Given the description of an element on the screen output the (x, y) to click on. 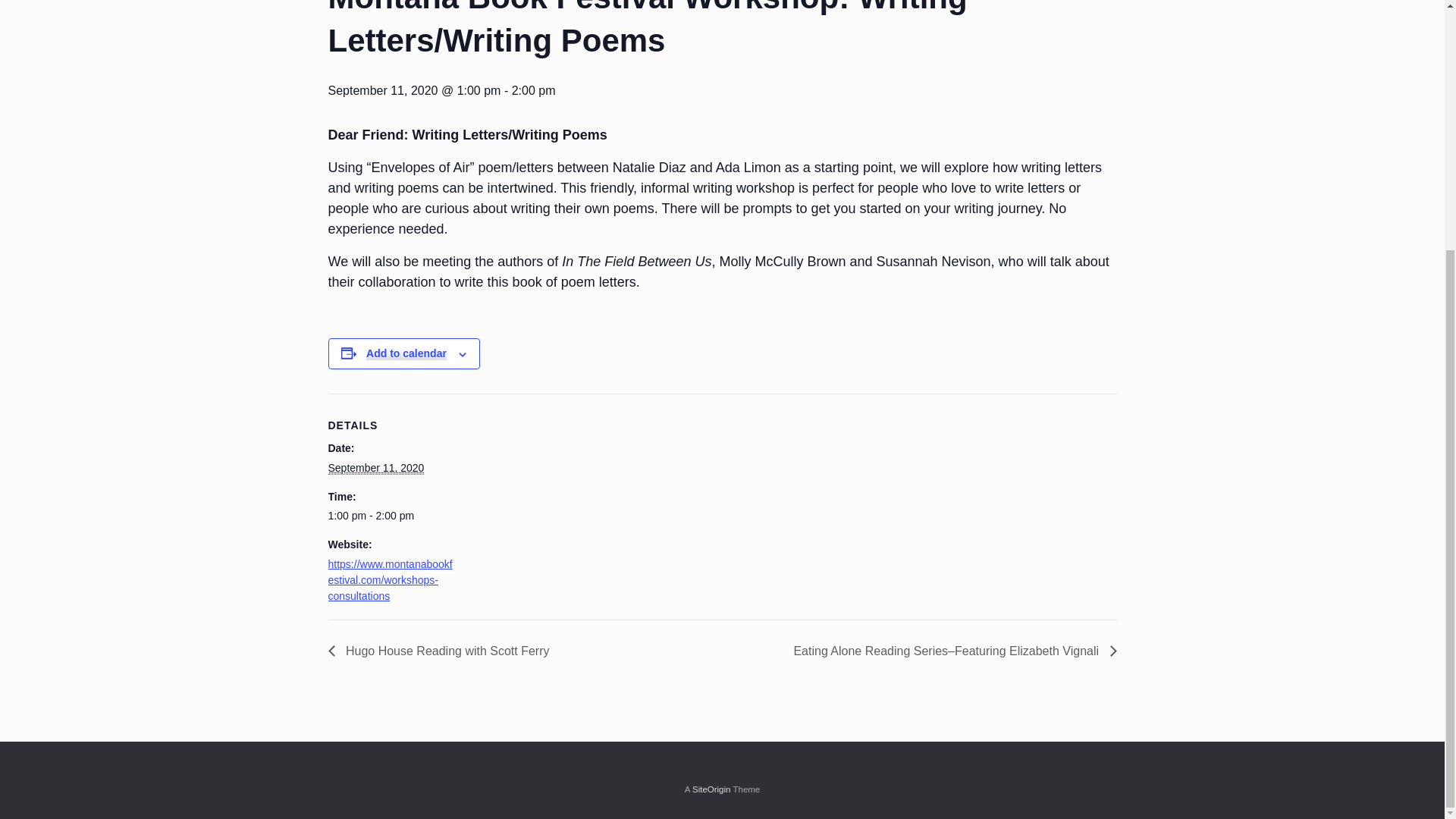
Hugo House Reading with Scott Ferry (442, 650)
2020-09-11 (375, 468)
2020-09-11 (390, 515)
SiteOrigin (711, 788)
Add to calendar (406, 353)
